Given the description of an element on the screen output the (x, y) to click on. 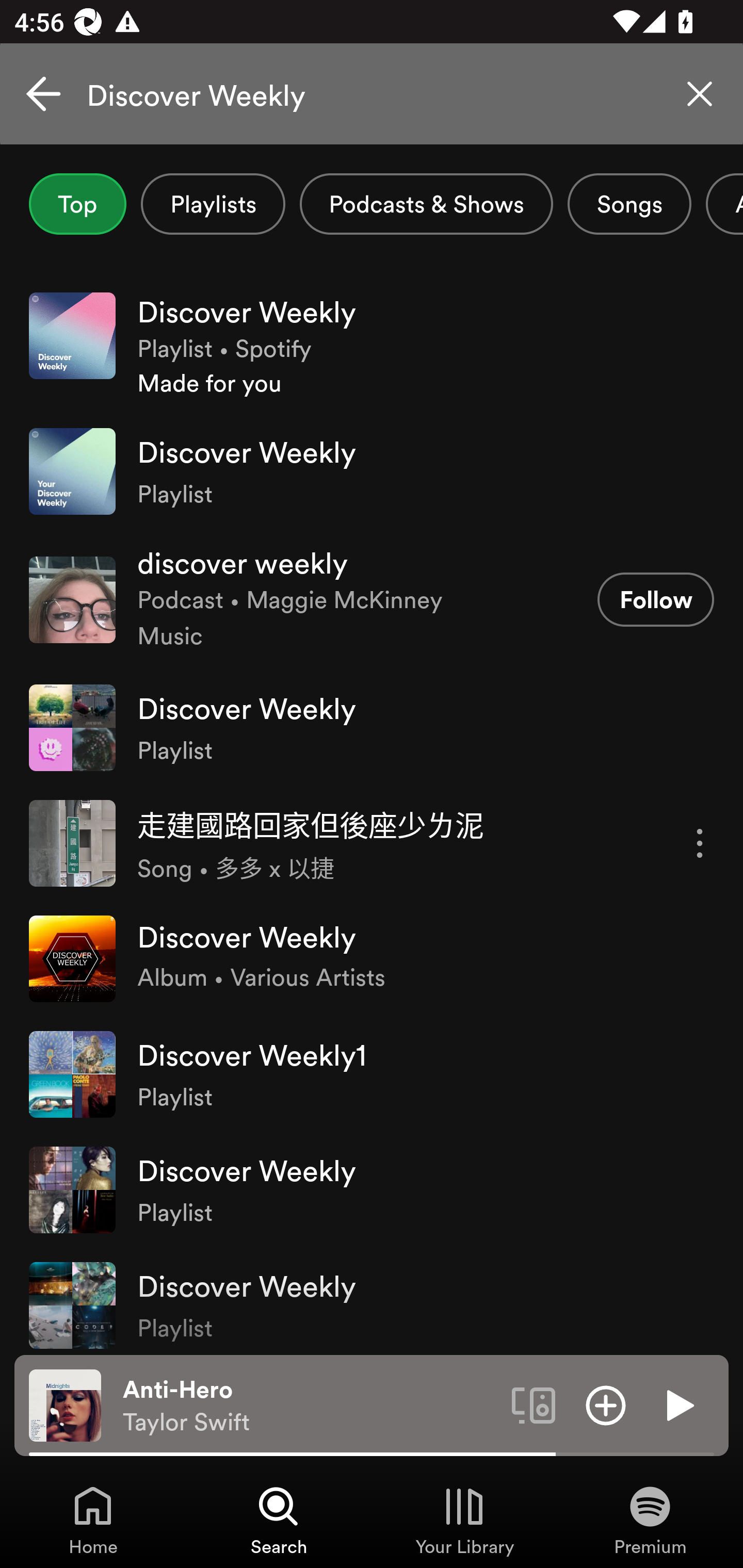
Discover Weekly (371, 93)
Cancel (43, 93)
Clear search query (699, 93)
Top (77, 203)
Playlists (213, 203)
Podcasts & Shows (425, 203)
Songs (629, 203)
Discover Weekly Playlist • Spotify Made for you (371, 345)
Discover Weekly Playlist (371, 471)
Follow (655, 599)
Discover Weekly Playlist (371, 727)
More options for song 走建國路回家但後座少ㄌ泥 (699, 842)
Discover Weekly Album • Various Artists (371, 958)
Discover Weekly1 Playlist (371, 1074)
Discover Weekly Playlist (371, 1190)
Discover Weekly Playlist (371, 1301)
Anti-Hero Taylor Swift (309, 1405)
The cover art of the currently playing track (64, 1404)
Connect to a device. Opens the devices menu (533, 1404)
Add item (605, 1404)
Play (677, 1404)
Home, Tab 1 of 4 Home Home (92, 1519)
Search, Tab 2 of 4 Search Search (278, 1519)
Your Library, Tab 3 of 4 Your Library Your Library (464, 1519)
Premium, Tab 4 of 4 Premium Premium (650, 1519)
